Given the description of an element on the screen output the (x, y) to click on. 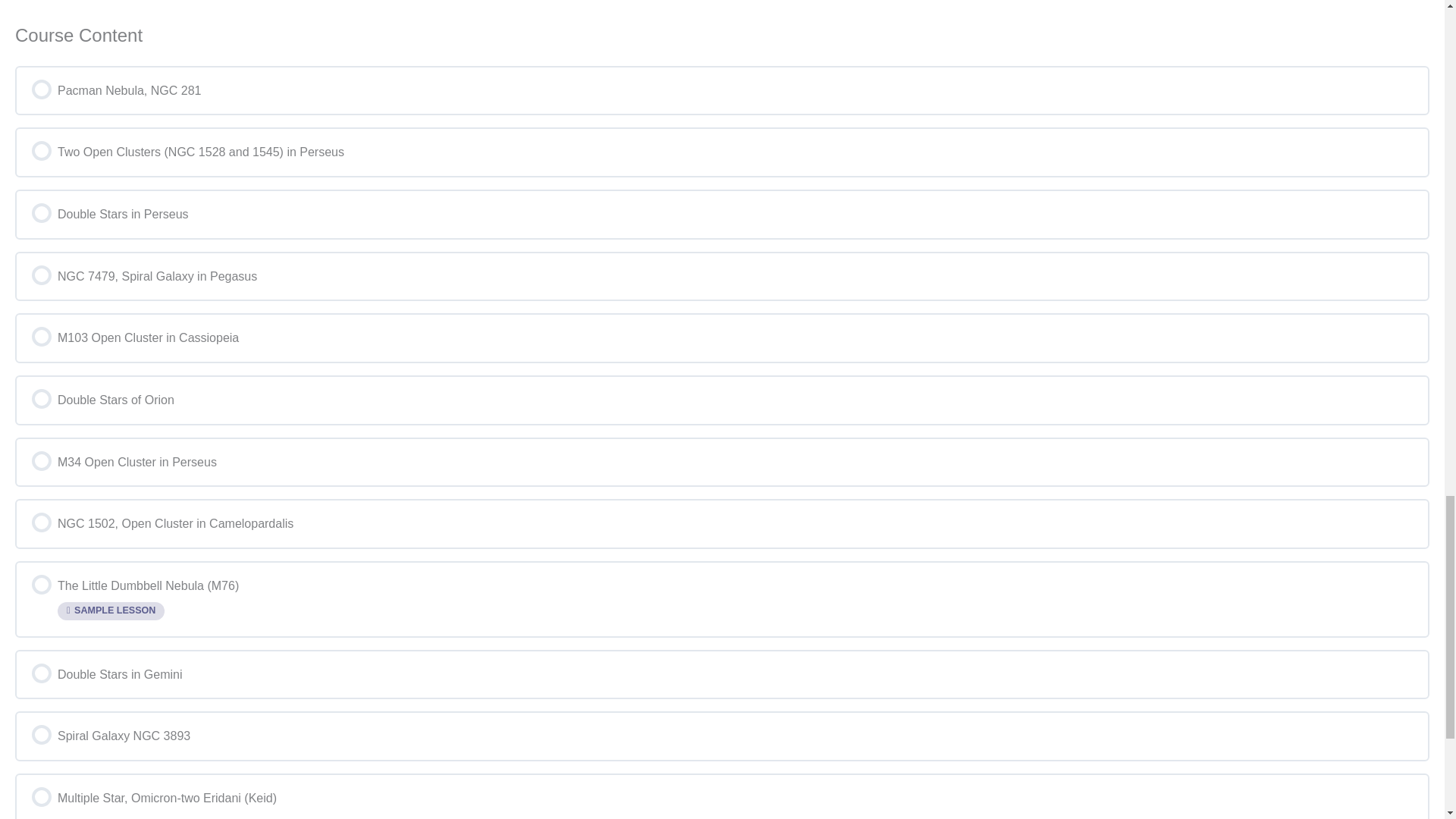
M34 Open Cluster in Perseus (722, 462)
Double Stars in Gemini (722, 674)
Double Stars of Orion (722, 400)
Double Stars in Perseus (722, 214)
Pacman Nebula, NGC 281 (722, 90)
NGC 7479, Spiral Galaxy in Pegasus (722, 276)
NGC 1502, Open Cluster in Camelopardalis (722, 523)
M103 Open Cluster in Cassiopeia (722, 337)
Spiral Galaxy NGC 3893 (722, 736)
